Given the description of an element on the screen output the (x, y) to click on. 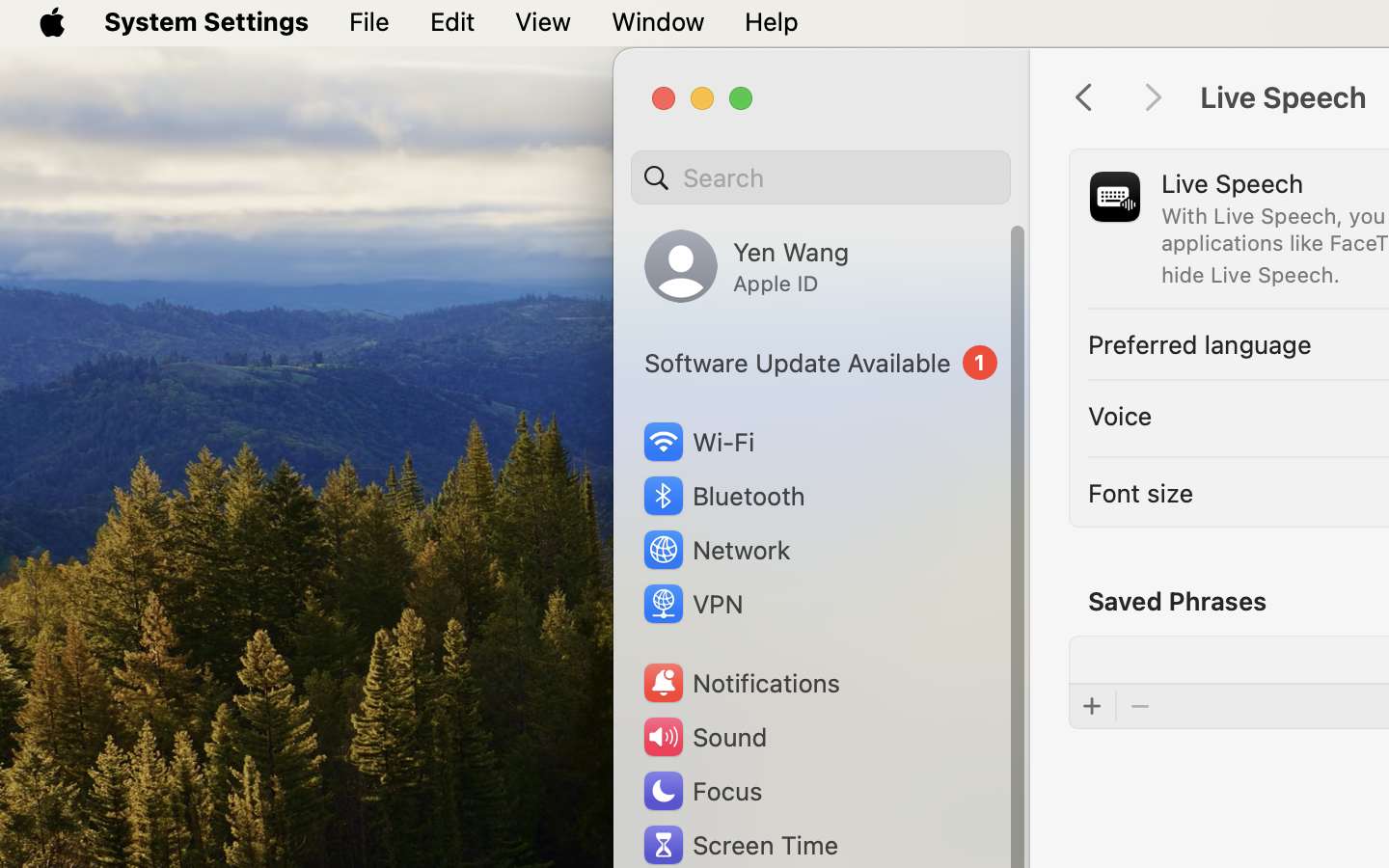
Preferred language Element type: AXStaticText (1199, 342)
Network Element type: AXStaticText (715, 549)
Sound Element type: AXStaticText (703, 736)
VPN Element type: AXStaticText (691, 603)
